Given the description of an element on the screen output the (x, y) to click on. 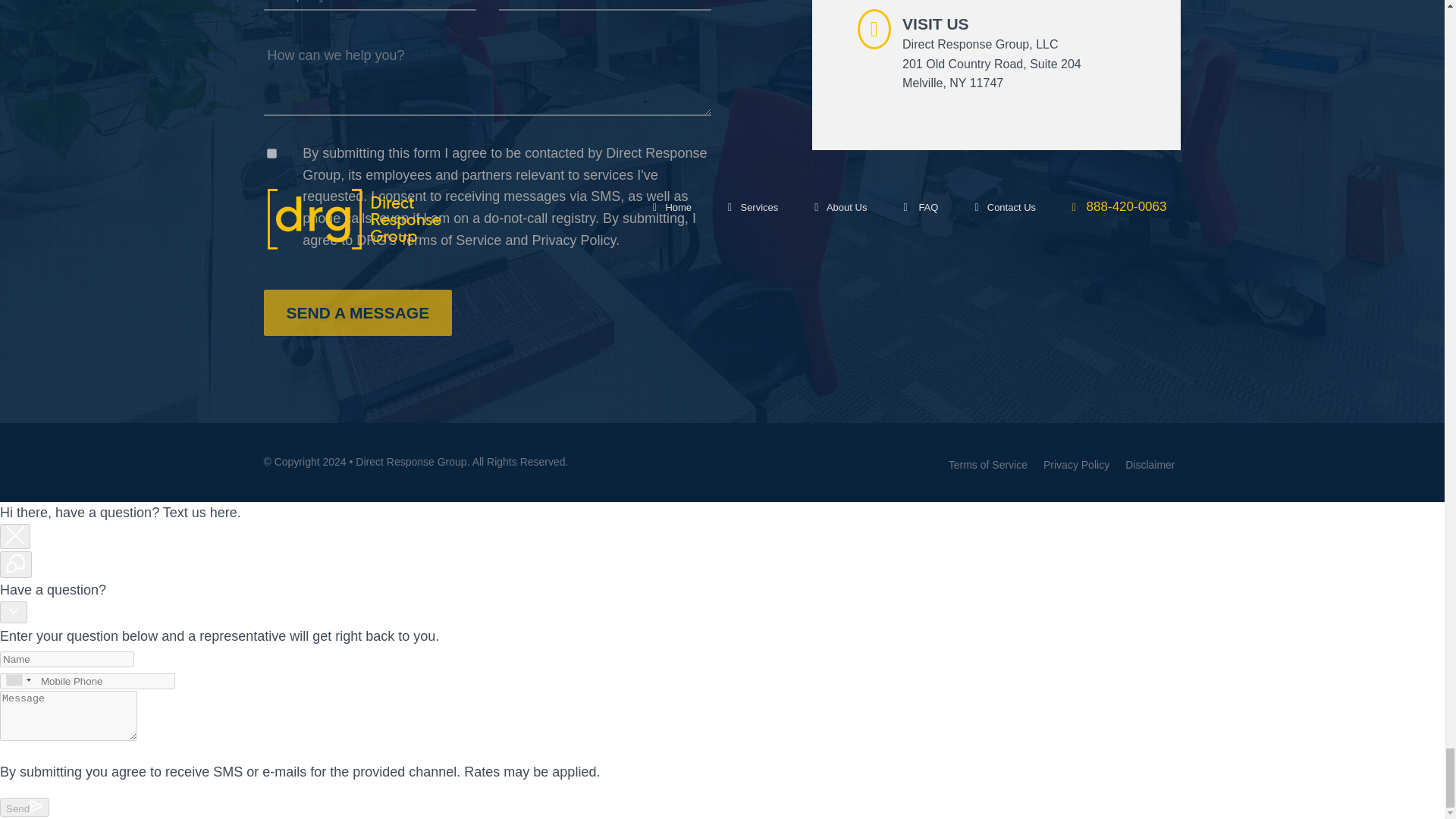
on (272, 153)
